Given the description of an element on the screen output the (x, y) to click on. 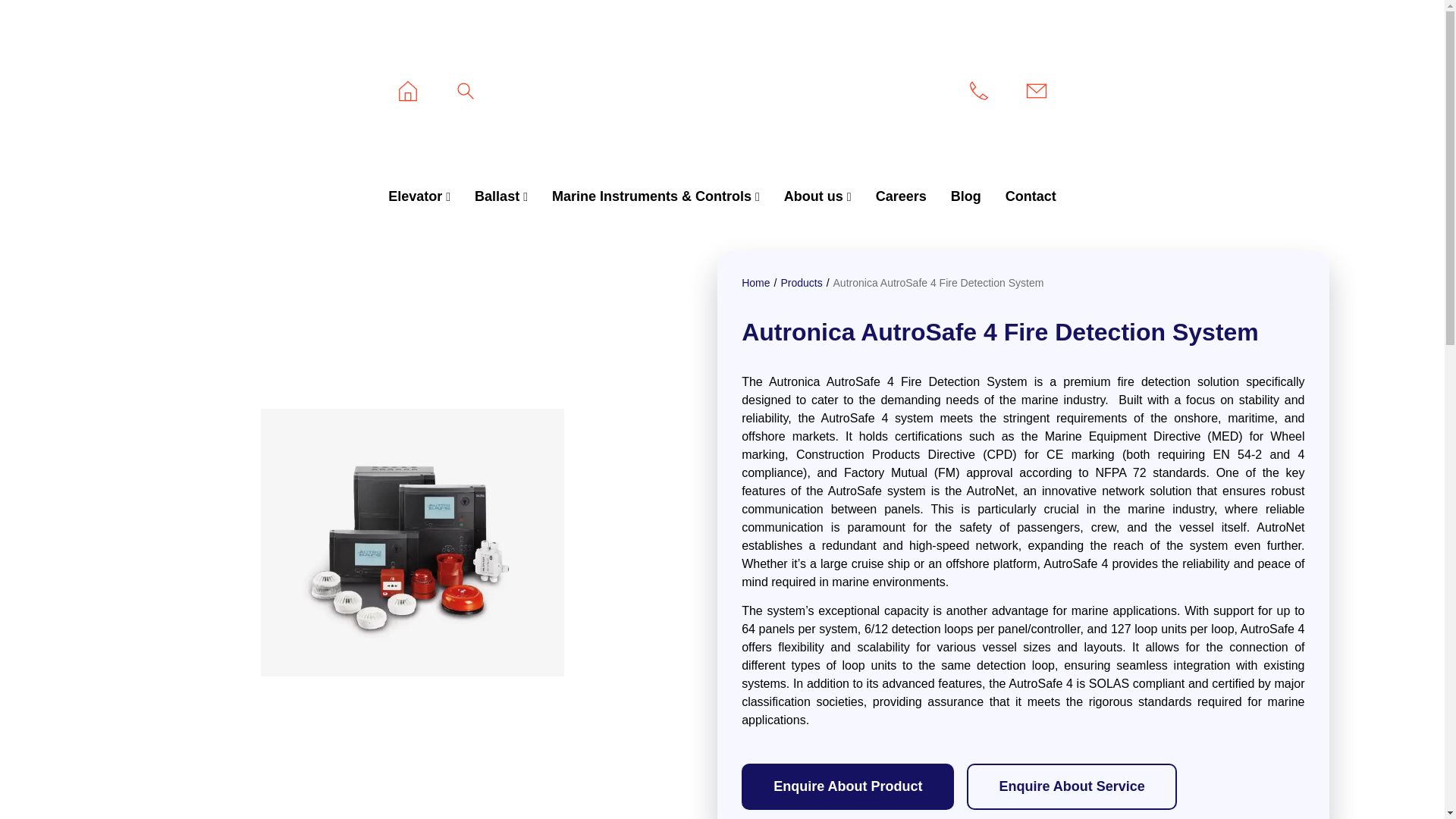
Products (801, 283)
Home (755, 283)
Elevator (419, 196)
Ballast (501, 196)
